Given the description of an element on the screen output the (x, y) to click on. 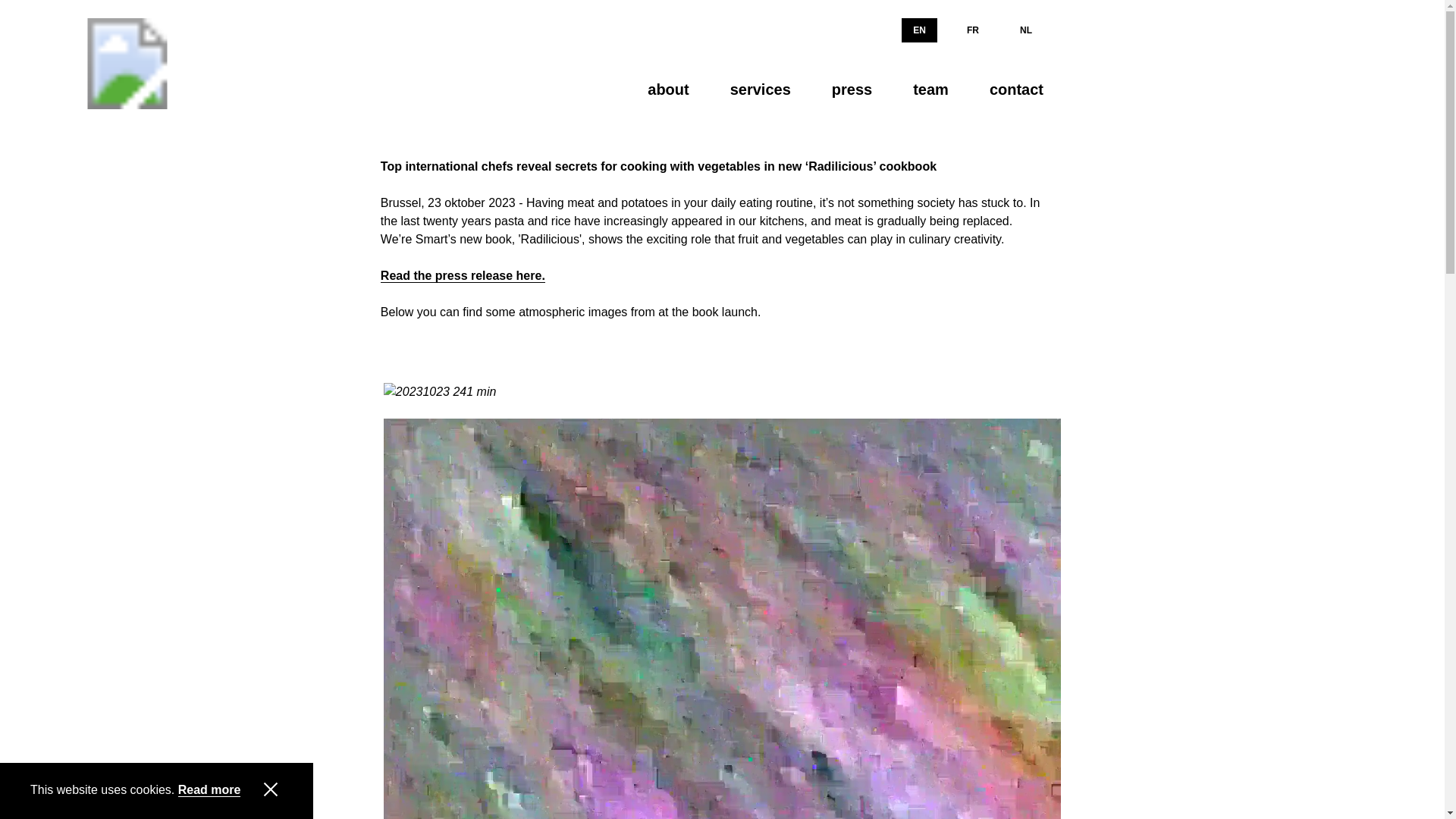
contact (1010, 88)
FR (972, 30)
team (930, 88)
NL (1026, 30)
services (760, 88)
press (852, 88)
EN (919, 30)
about (668, 88)
Read more (209, 789)
Read the press release here. (462, 276)
